Given the description of an element on the screen output the (x, y) to click on. 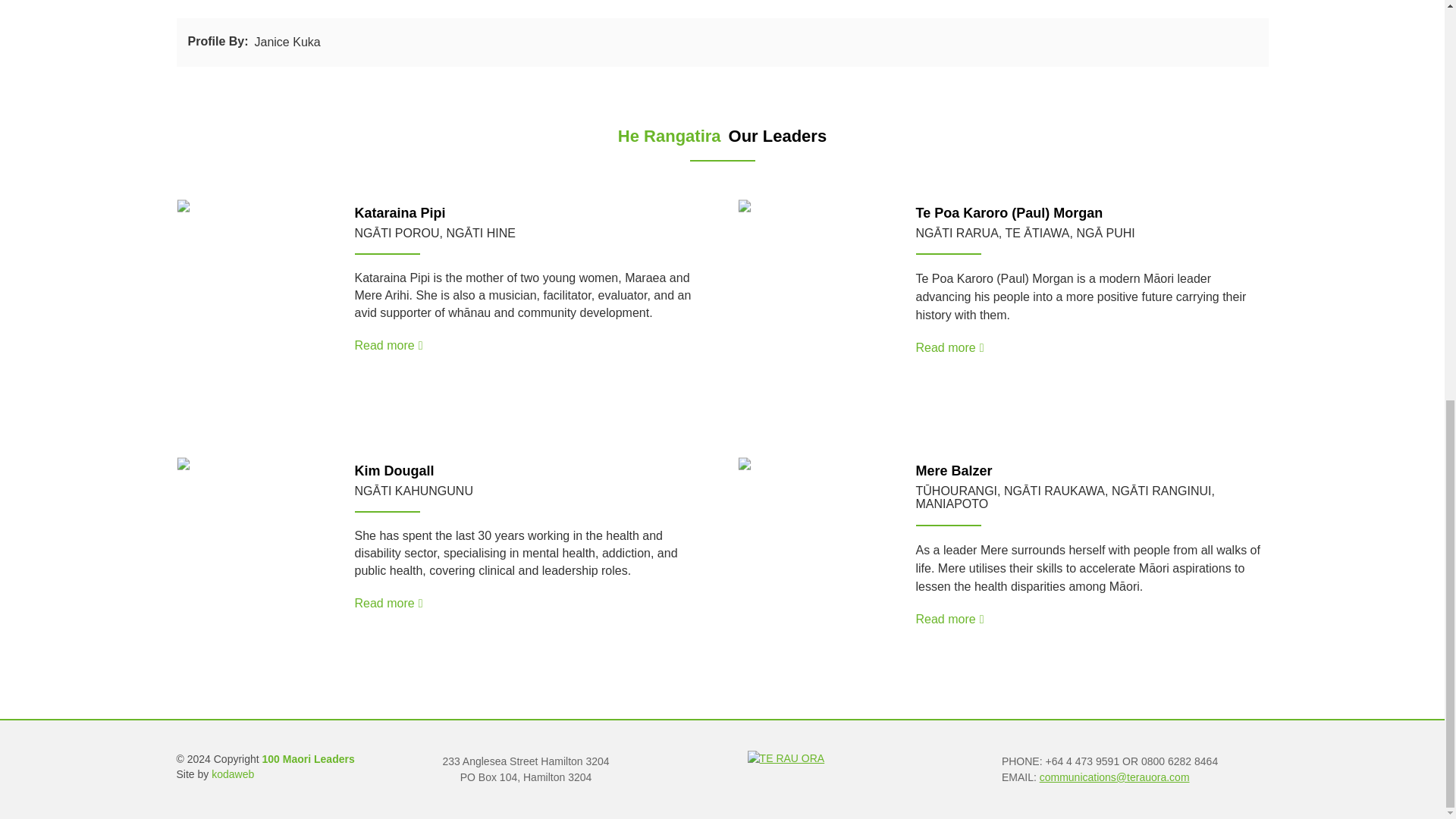
Mere Balzer (953, 470)
Kim Dougall (394, 470)
100 Maori Leaders (308, 758)
Kataraina Pipi (400, 212)
Read more (389, 345)
Read more (389, 603)
Read more (949, 618)
Read more (949, 347)
